Given the description of an element on the screen output the (x, y) to click on. 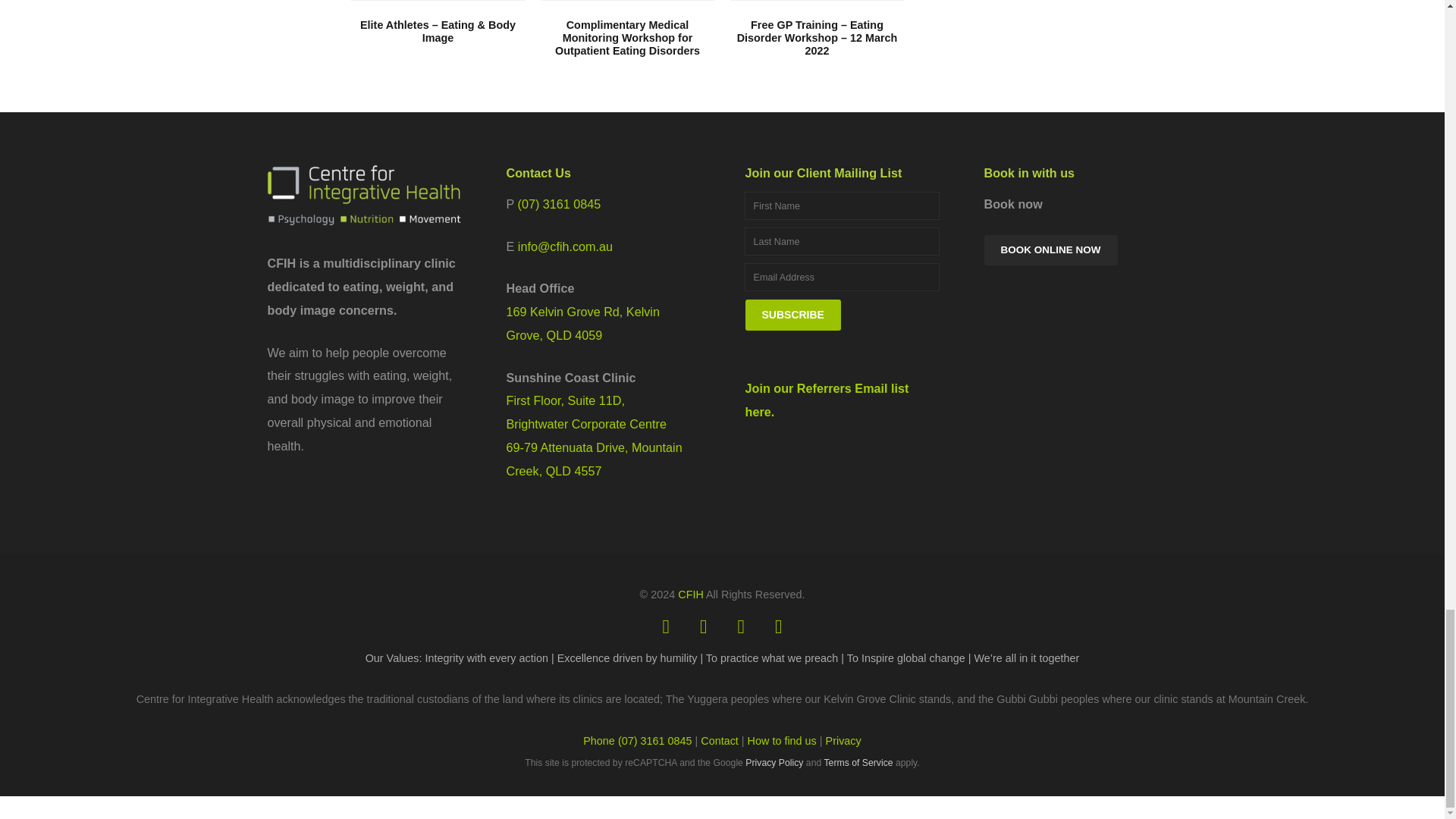
Book Online (1051, 250)
Subscribe (792, 314)
